Given the description of an element on the screen output the (x, y) to click on. 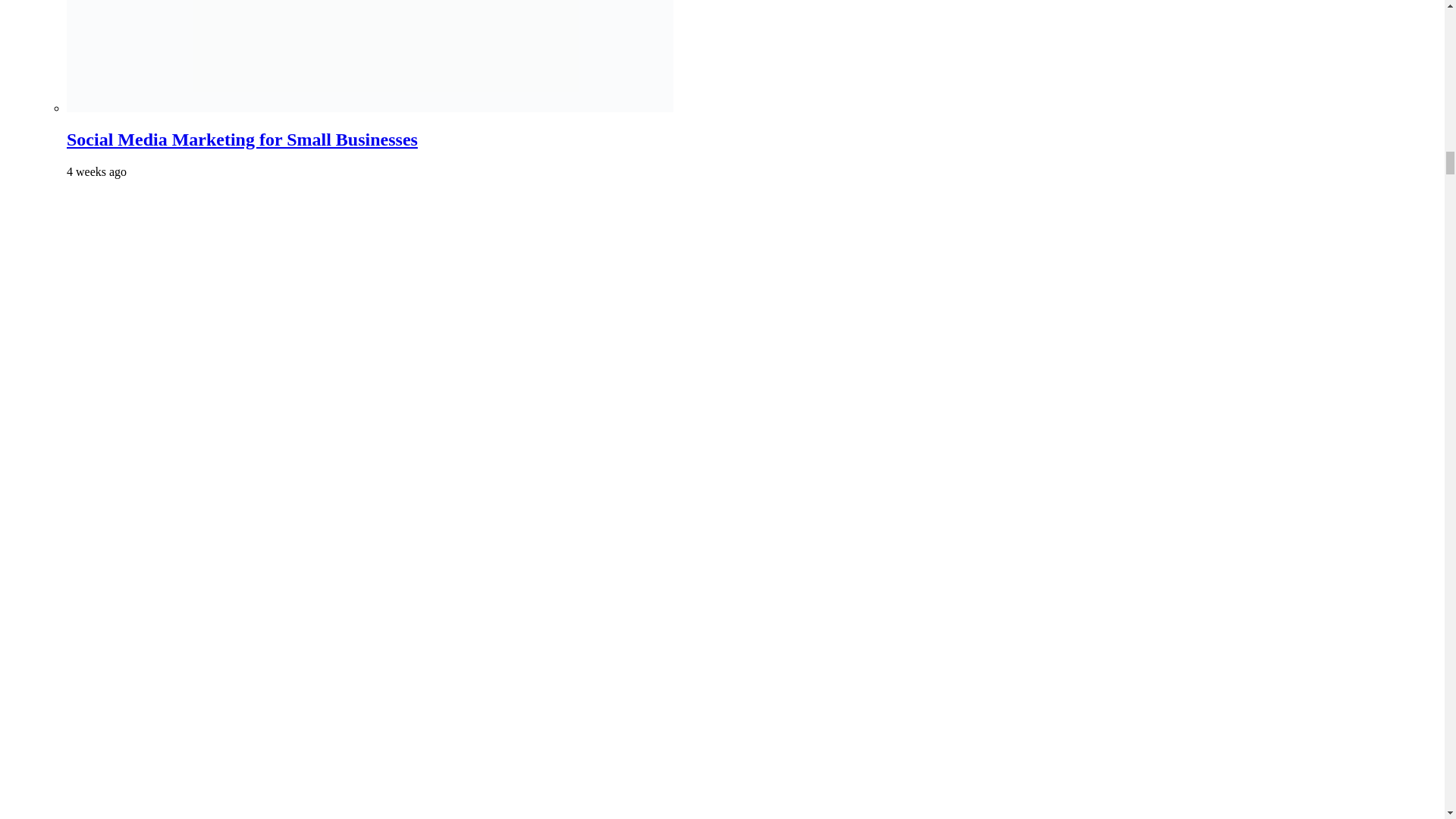
Social Media Marketing for Small Businesses (241, 139)
